Given the description of an element on the screen output the (x, y) to click on. 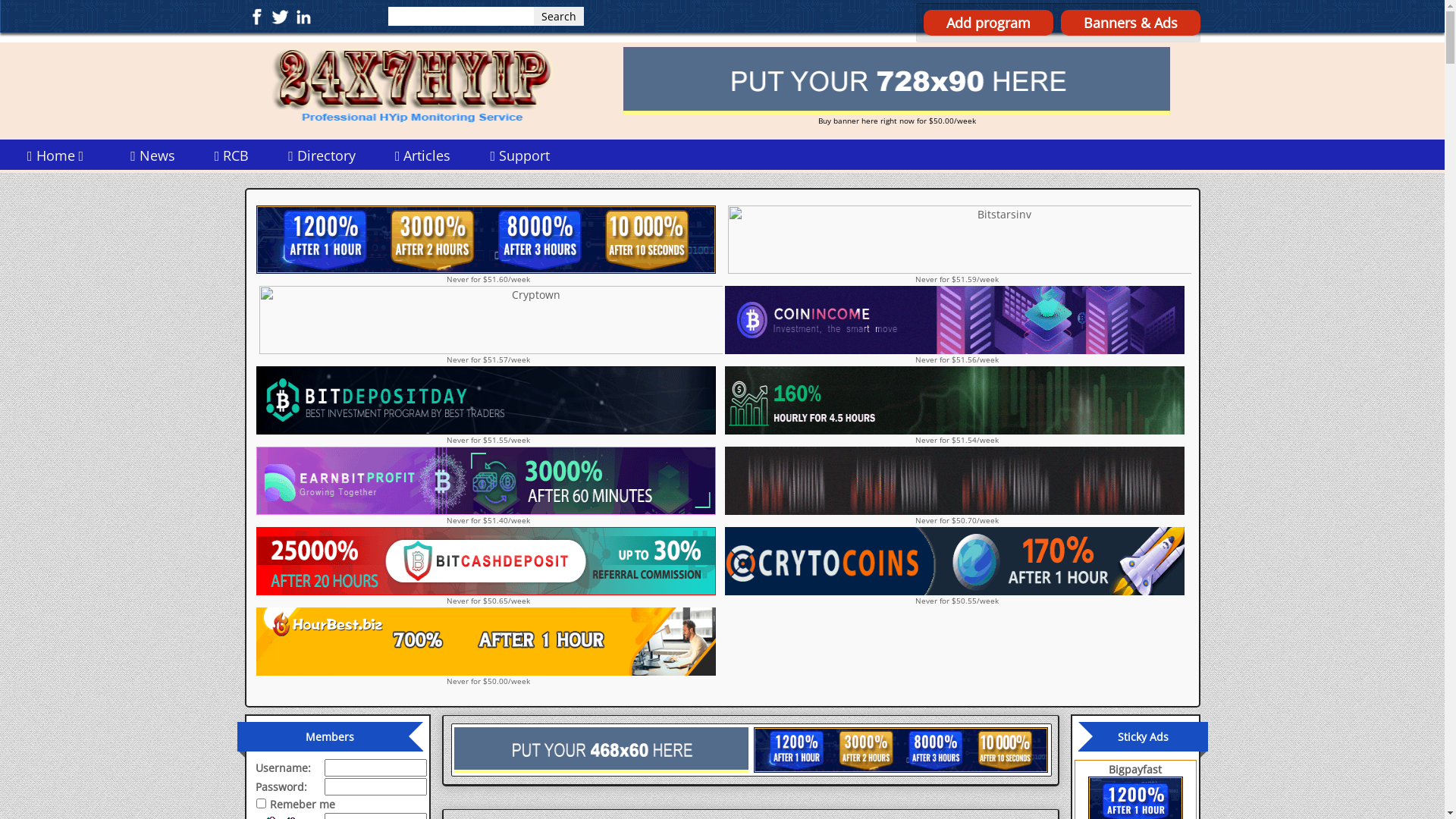
 Directory Element type: text (321, 155)
Buy banner here right now for $50.00/week Element type: text (896, 86)
Add program Element type: text (988, 22)
Never for $50.00/week Element type: text (487, 646)
Never for $51.59/week Element type: text (955, 244)
 Support Element type: text (519, 155)
Bigpayfast Element type: text (1134, 769)
Never for $51.60/week Element type: text (487, 244)
 News Element type: text (152, 155)
 RCB Element type: text (231, 155)
Never for $51.40/week Element type: text (487, 485)
Search Element type: text (558, 15)
Banners & Ads Element type: text (1129, 22)
Never for $51.56/week Element type: text (955, 324)
 Home    Element type: text (59, 155)
Never for $51.57/week Element type: text (487, 324)
Never for $51.54/week Element type: text (955, 405)
Never for $51.55/week Element type: text (487, 405)
 Articles Element type: text (422, 155)
Never for $50.70/week Element type: text (955, 485)
Never for $50.55/week Element type: text (955, 566)
Never for $50.65/week Element type: text (487, 566)
